Given the description of an element on the screen output the (x, y) to click on. 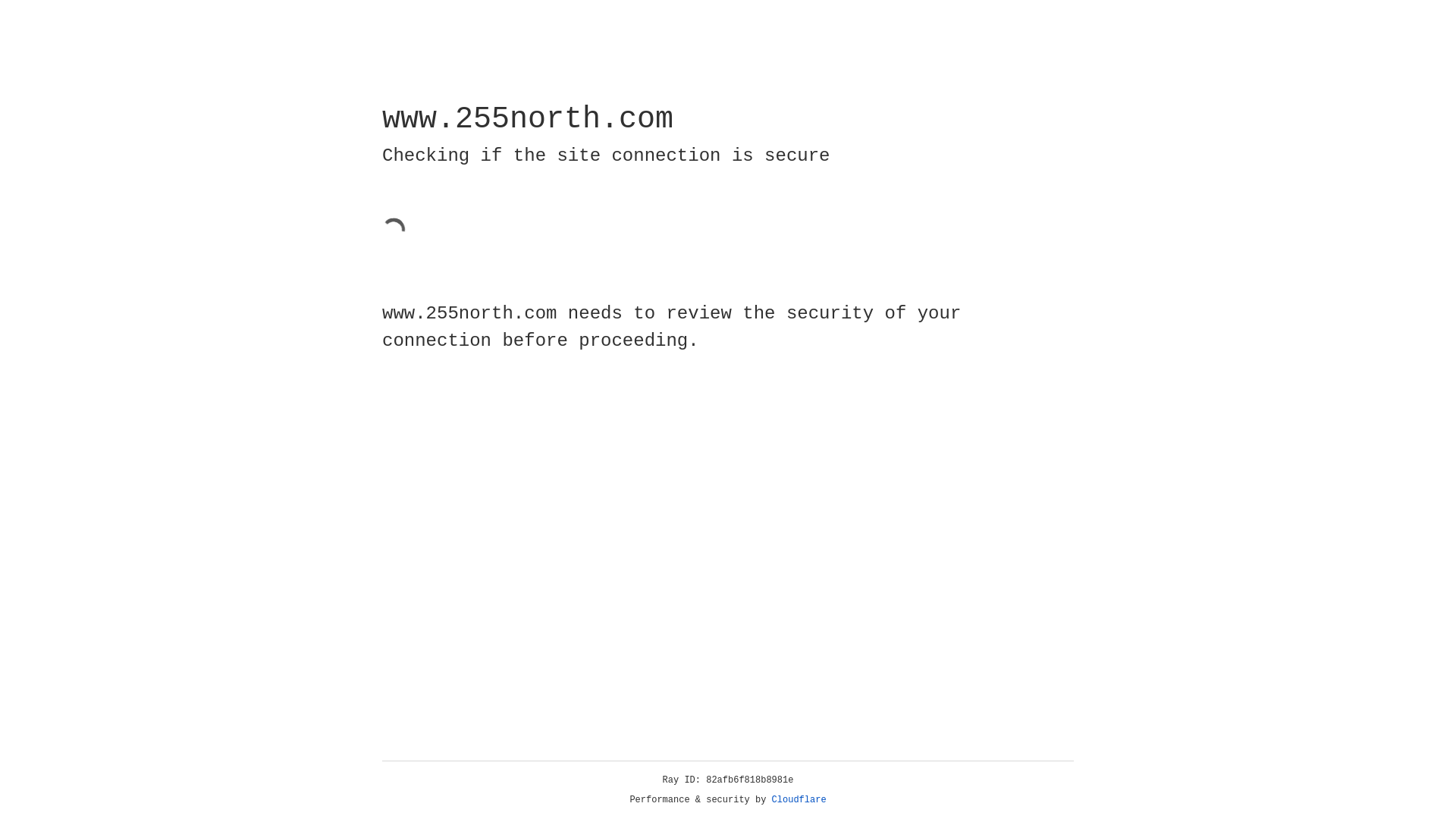
Cloudflare Element type: text (798, 799)
